Given the description of an element on the screen output the (x, y) to click on. 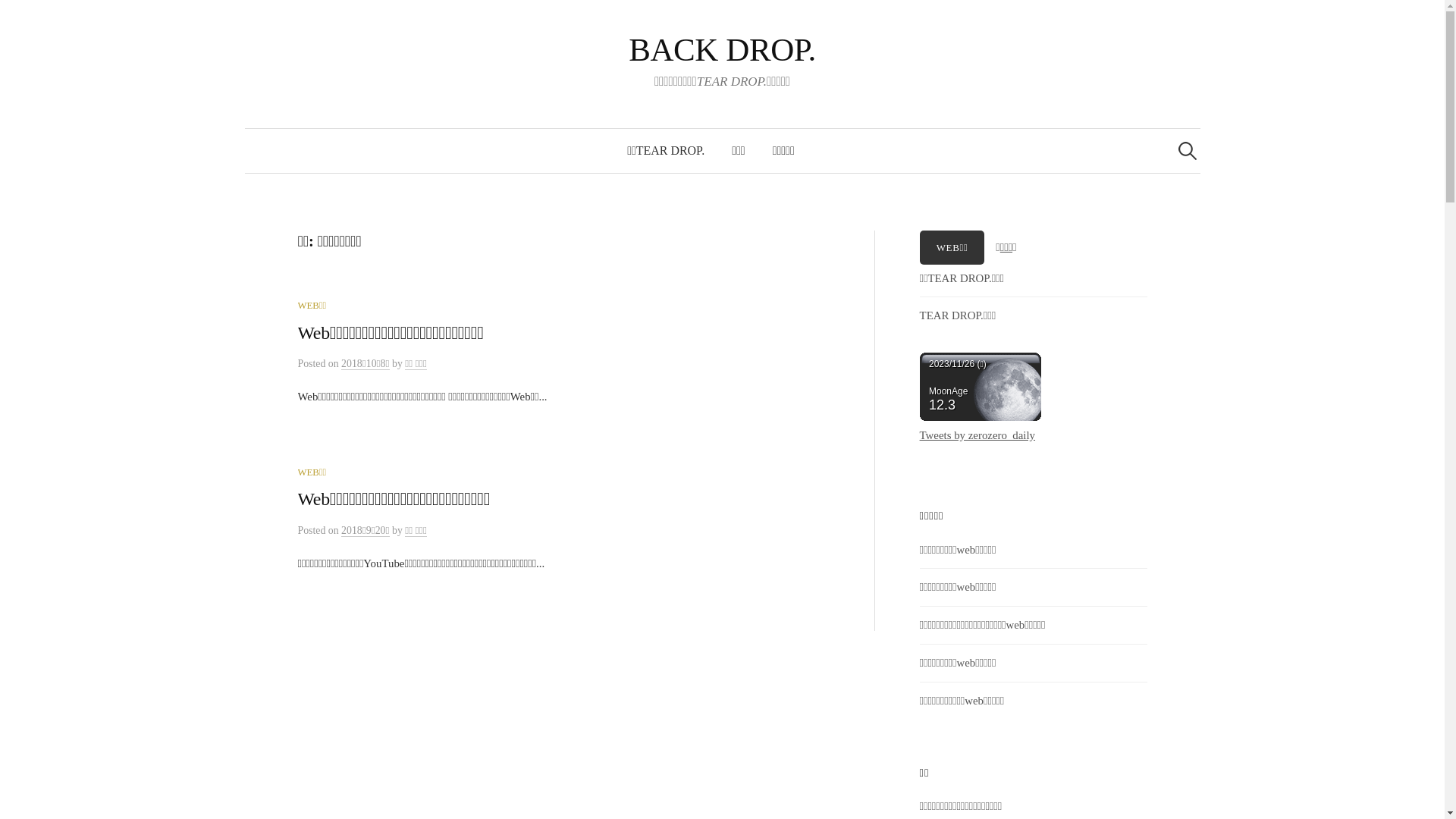
BACK DROP. Element type: text (721, 49)
Tweets by zerozero_daily Element type: text (977, 435)
